Given the description of an element on the screen output the (x, y) to click on. 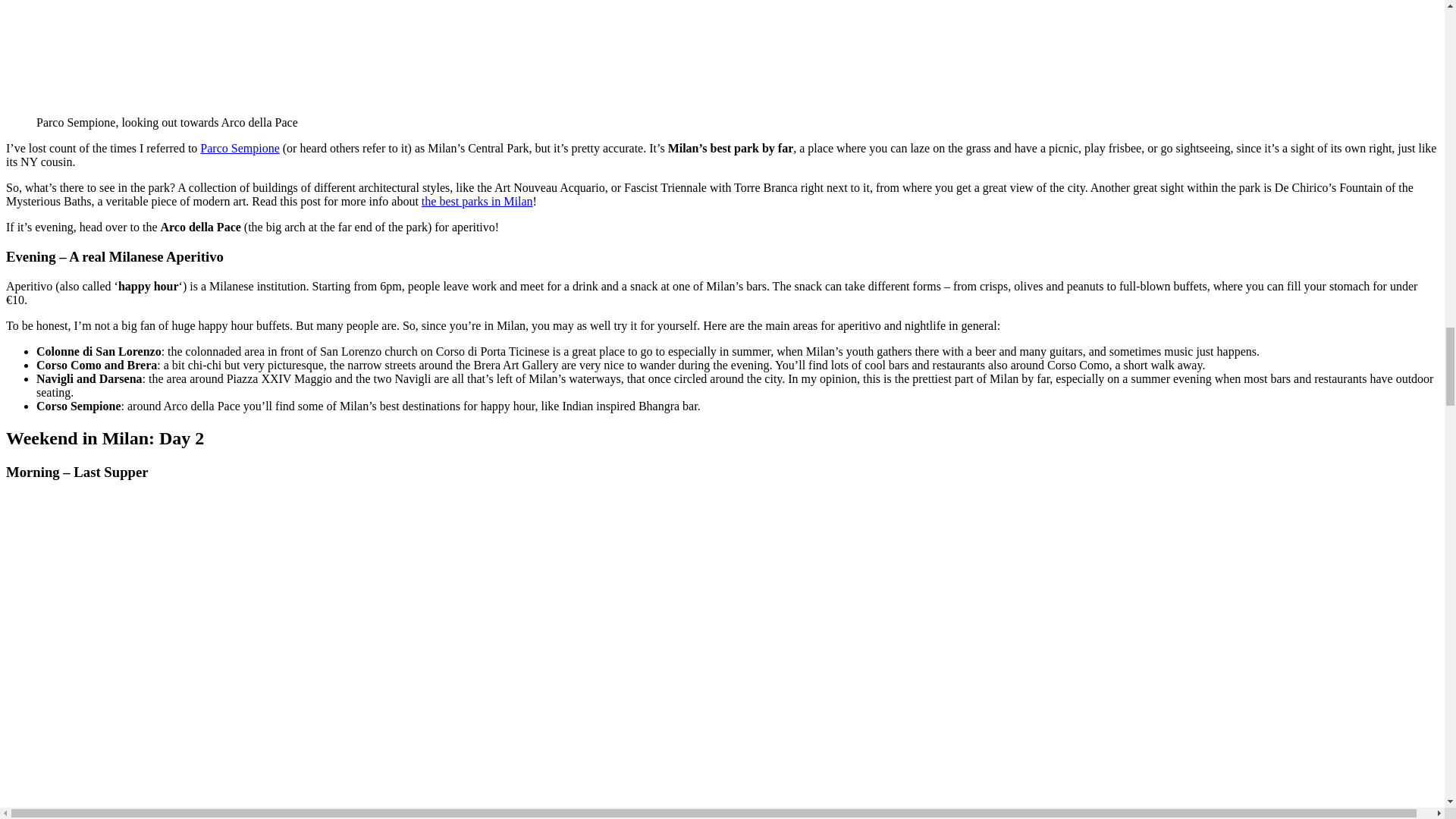
the best parks in Milan (477, 201)
Parco Sempione (239, 147)
